Given the description of an element on the screen output the (x, y) to click on. 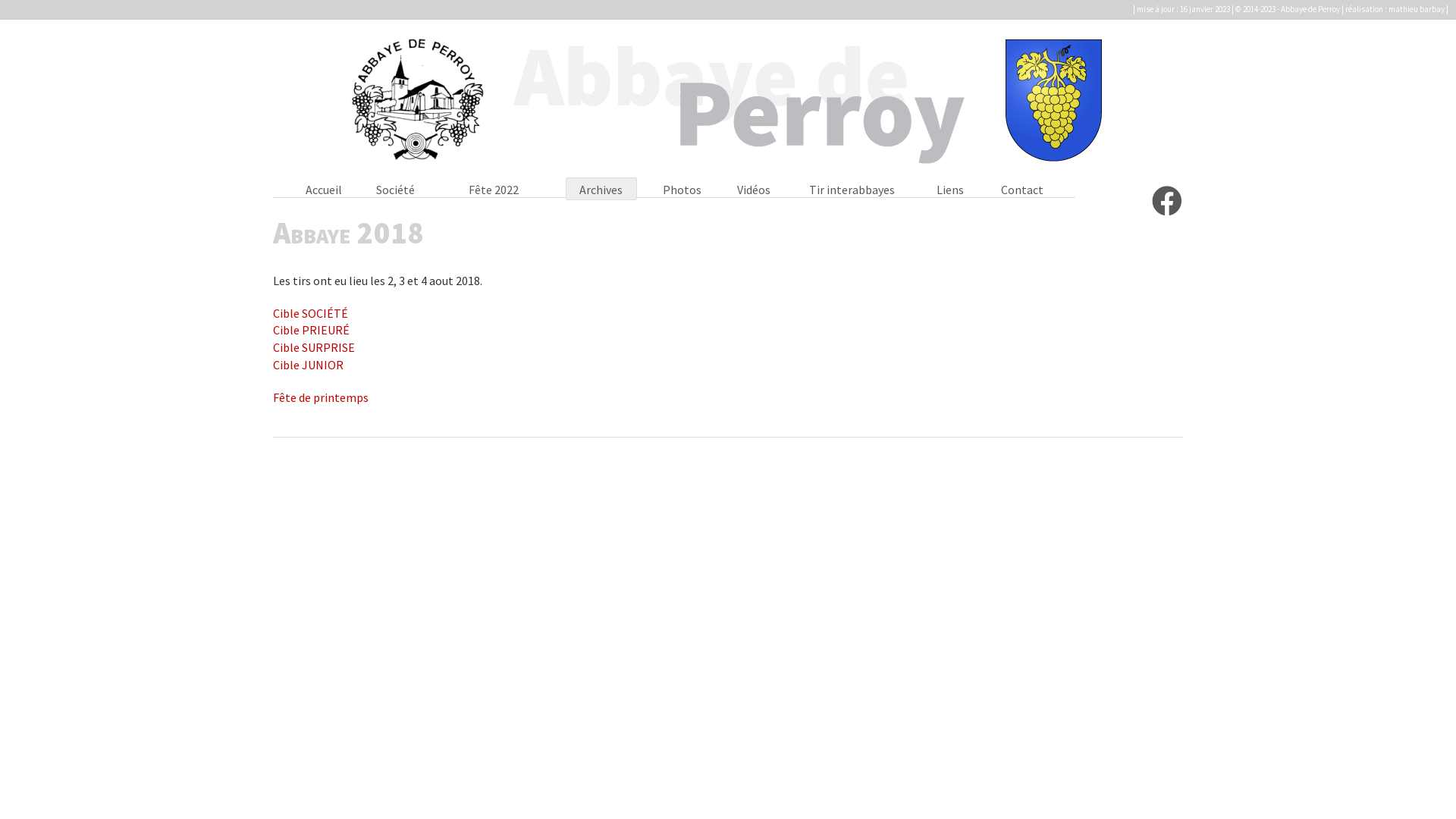
Archives Element type: text (600, 189)
Cible SURPRISE Element type: text (313, 346)
Accueil Element type: text (323, 189)
Photos Element type: text (681, 189)
Abbaye de Perroy Element type: hover (727, 103)
Cible JUNIOR Element type: text (308, 364)
Liens Element type: text (949, 189)
mathieu barbay Element type: text (1416, 8)
Tir interabbayes Element type: text (851, 189)
Contact Element type: text (1022, 189)
